Given the description of an element on the screen output the (x, y) to click on. 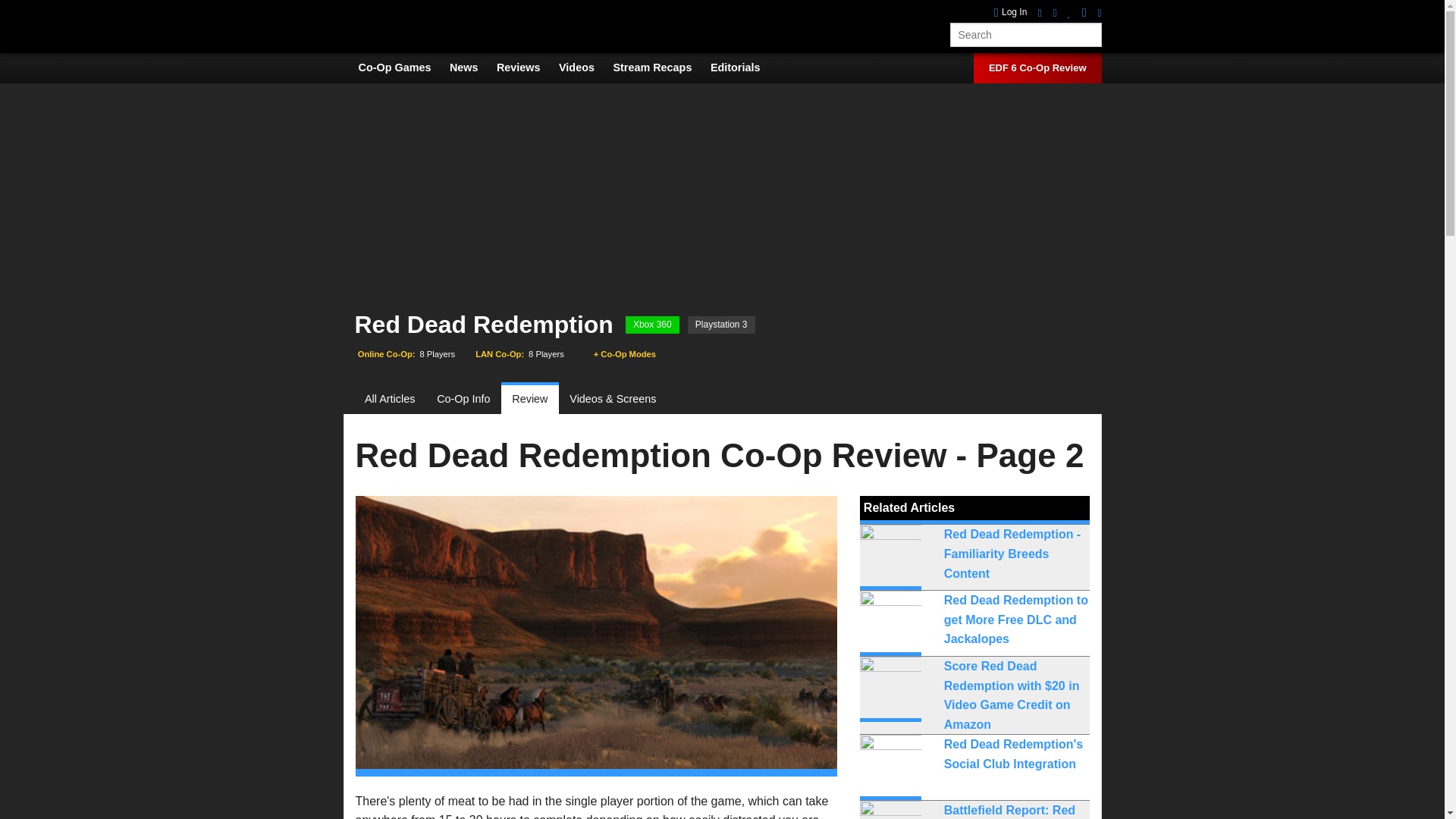
Playstation 3 (721, 324)
login (1010, 11)
EDF 6 Co-Op Review (1037, 67)
Xbox 360 (652, 324)
Weekly Video Streams and VODs from Co-Optimus (659, 67)
News (471, 67)
Co-Op Games (401, 67)
Videos (584, 67)
Review (529, 398)
 Log In (1010, 11)
